Given the description of an element on the screen output the (x, y) to click on. 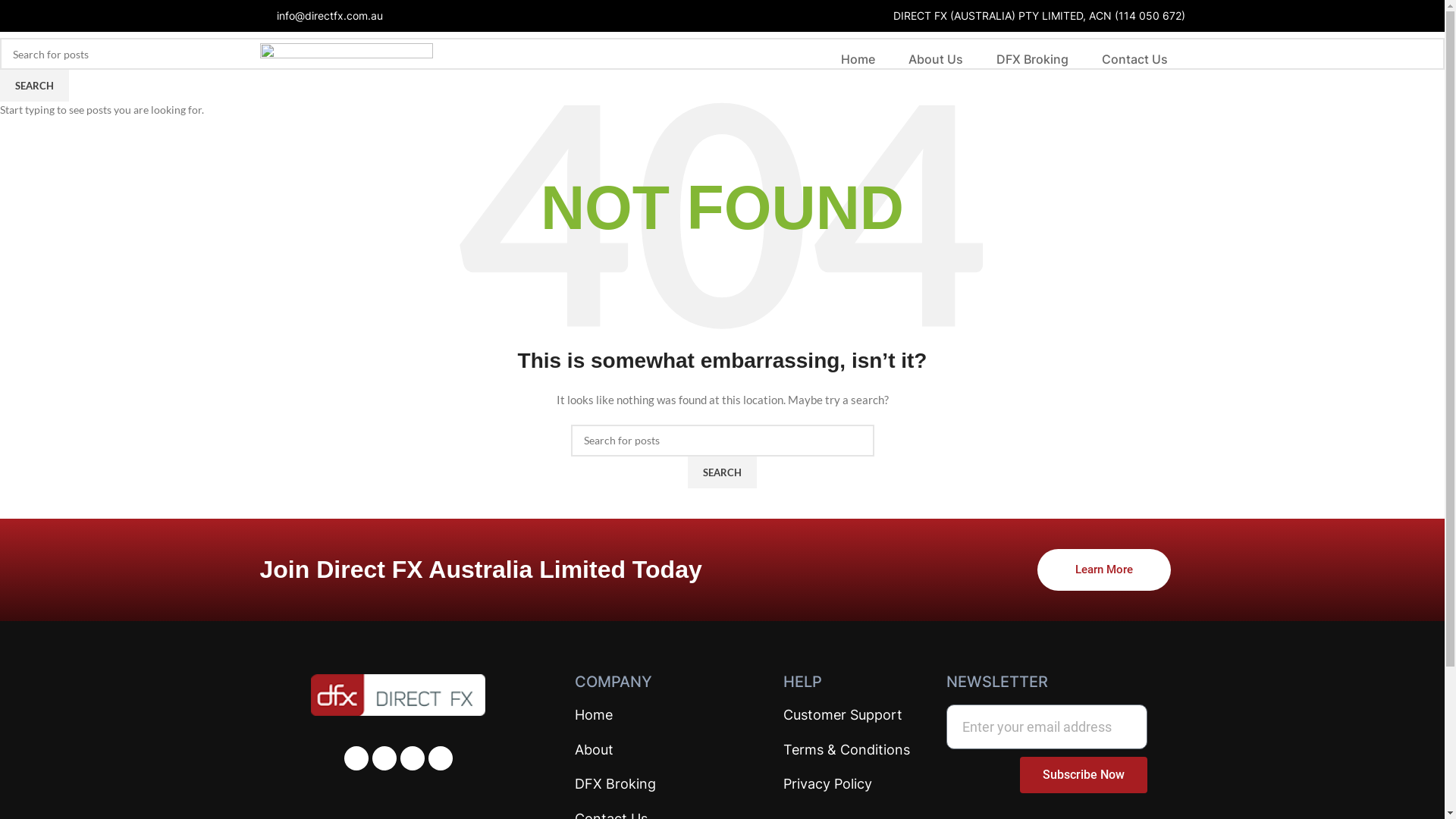
Learn More Element type: text (1103, 569)
SEARCH Element type: text (721, 472)
Home Element type: text (644, 715)
About Element type: text (644, 750)
Subscribe Now Element type: text (1082, 774)
DFX Broking Element type: text (1032, 59)
Home Element type: text (857, 59)
Search for posts Element type: hover (722, 53)
Search for posts Element type: hover (721, 440)
Contact Us Element type: text (1134, 59)
SEARCH Element type: text (34, 85)
About Us Element type: text (935, 59)
DFX Broking Element type: text (644, 784)
